Given the description of an element on the screen output the (x, y) to click on. 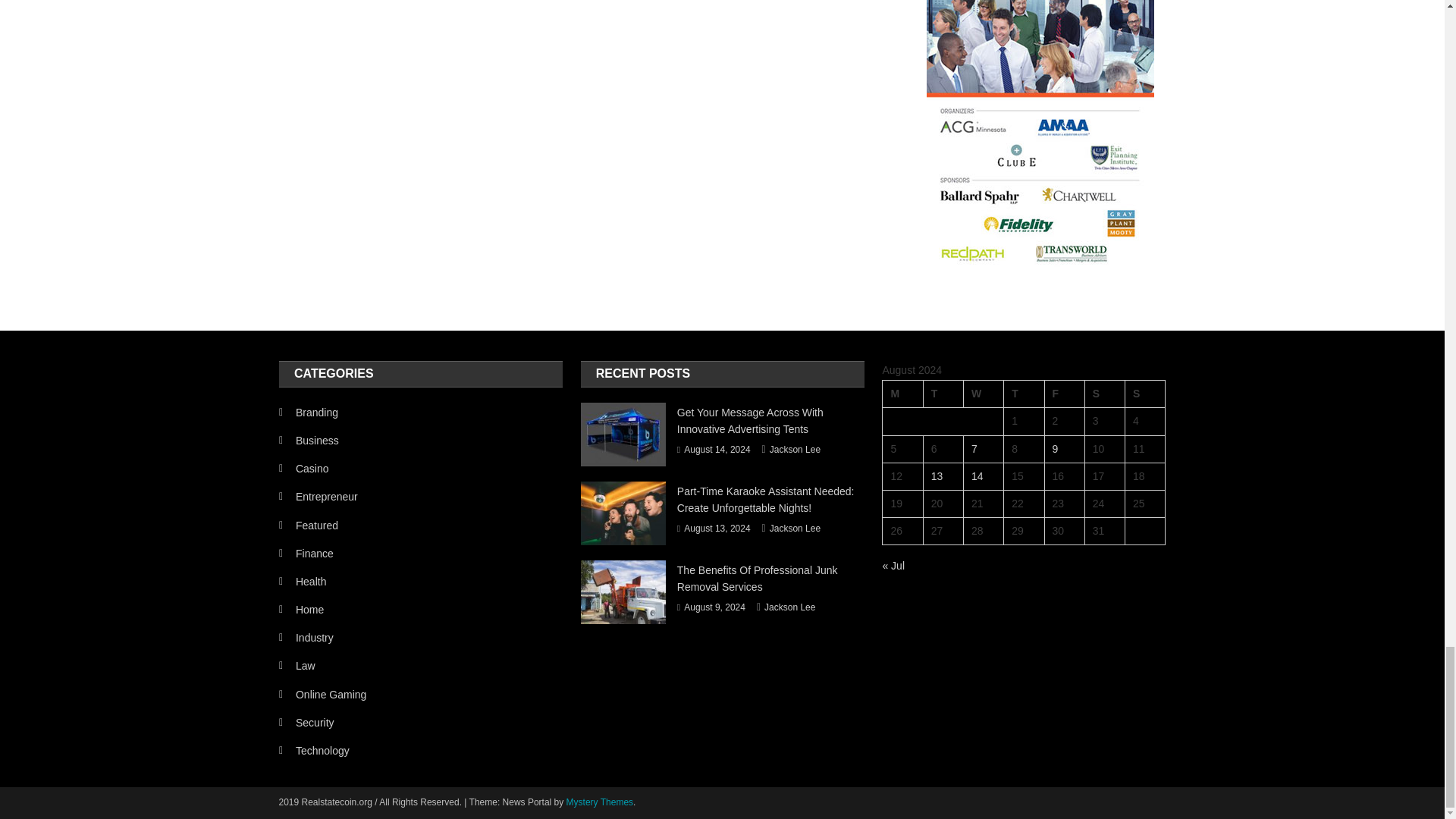
Wednesday (982, 393)
Friday (1063, 393)
Saturday (1104, 393)
Sunday (1145, 393)
Thursday (1023, 393)
Monday (902, 393)
Tuesday (942, 393)
